Given the description of an element on the screen output the (x, y) to click on. 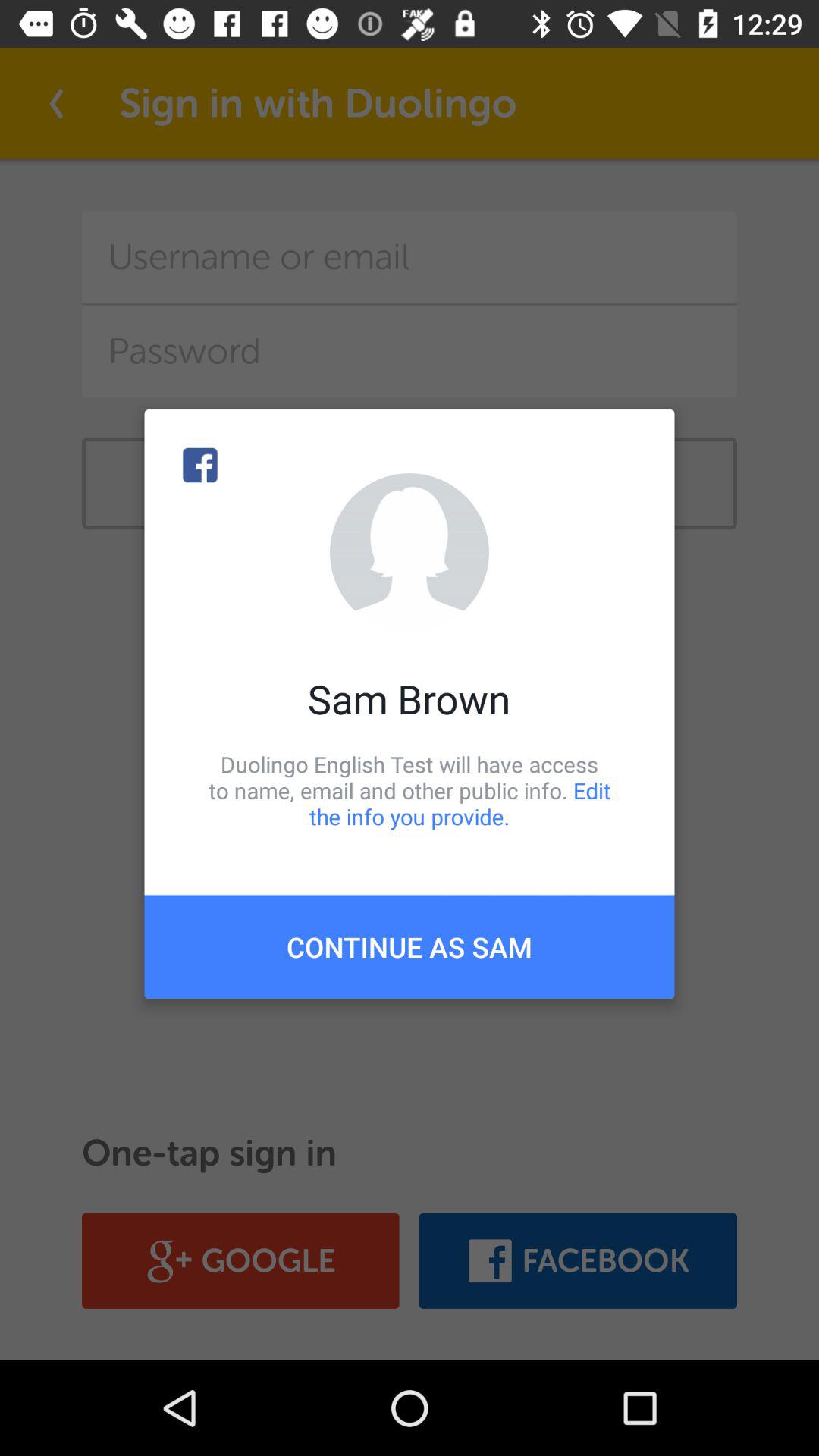
jump to the continue as sam icon (409, 946)
